Given the description of an element on the screen output the (x, y) to click on. 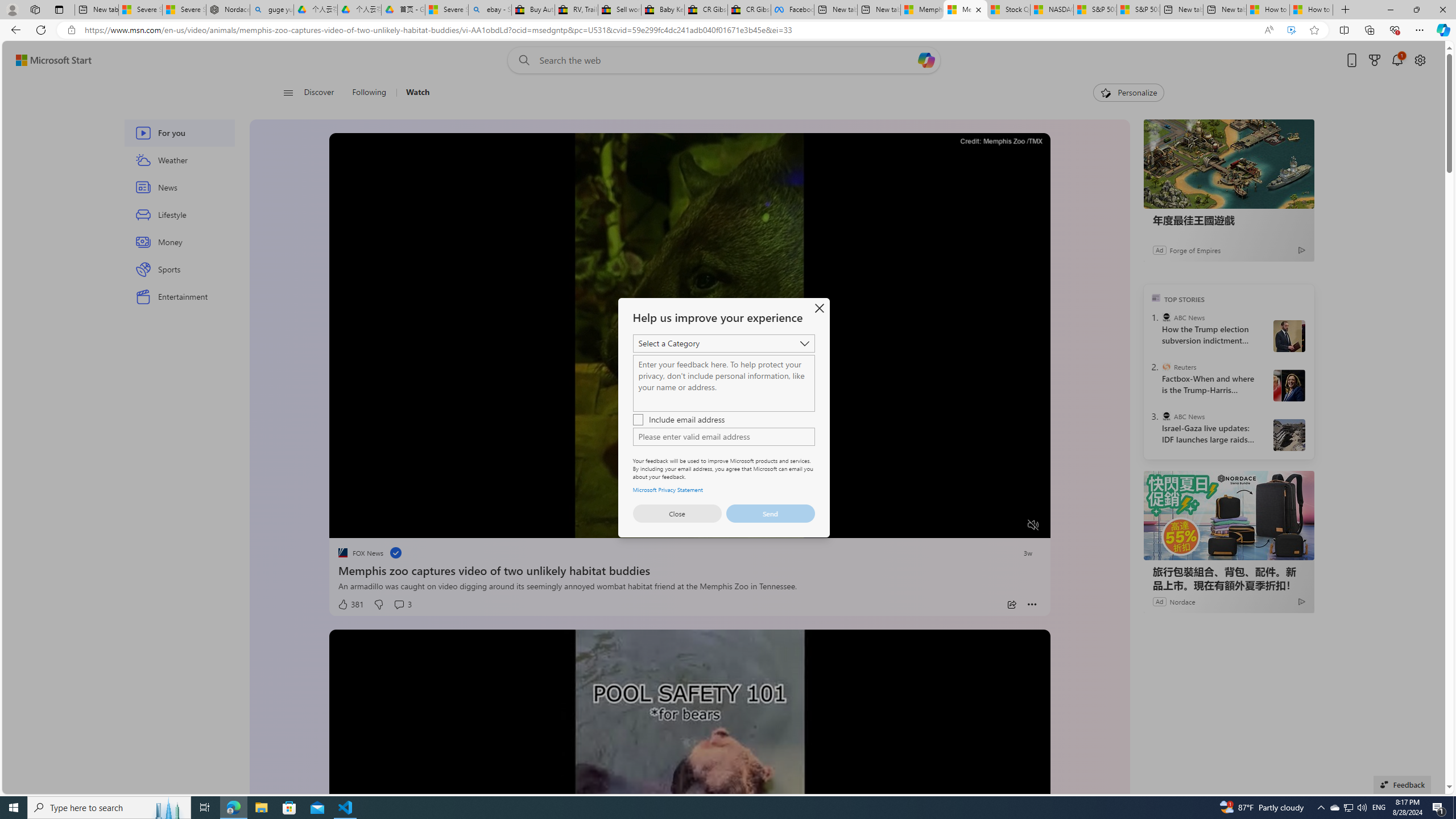
Enhance video (1291, 29)
Share (1010, 604)
